Given the description of an element on the screen output the (x, y) to click on. 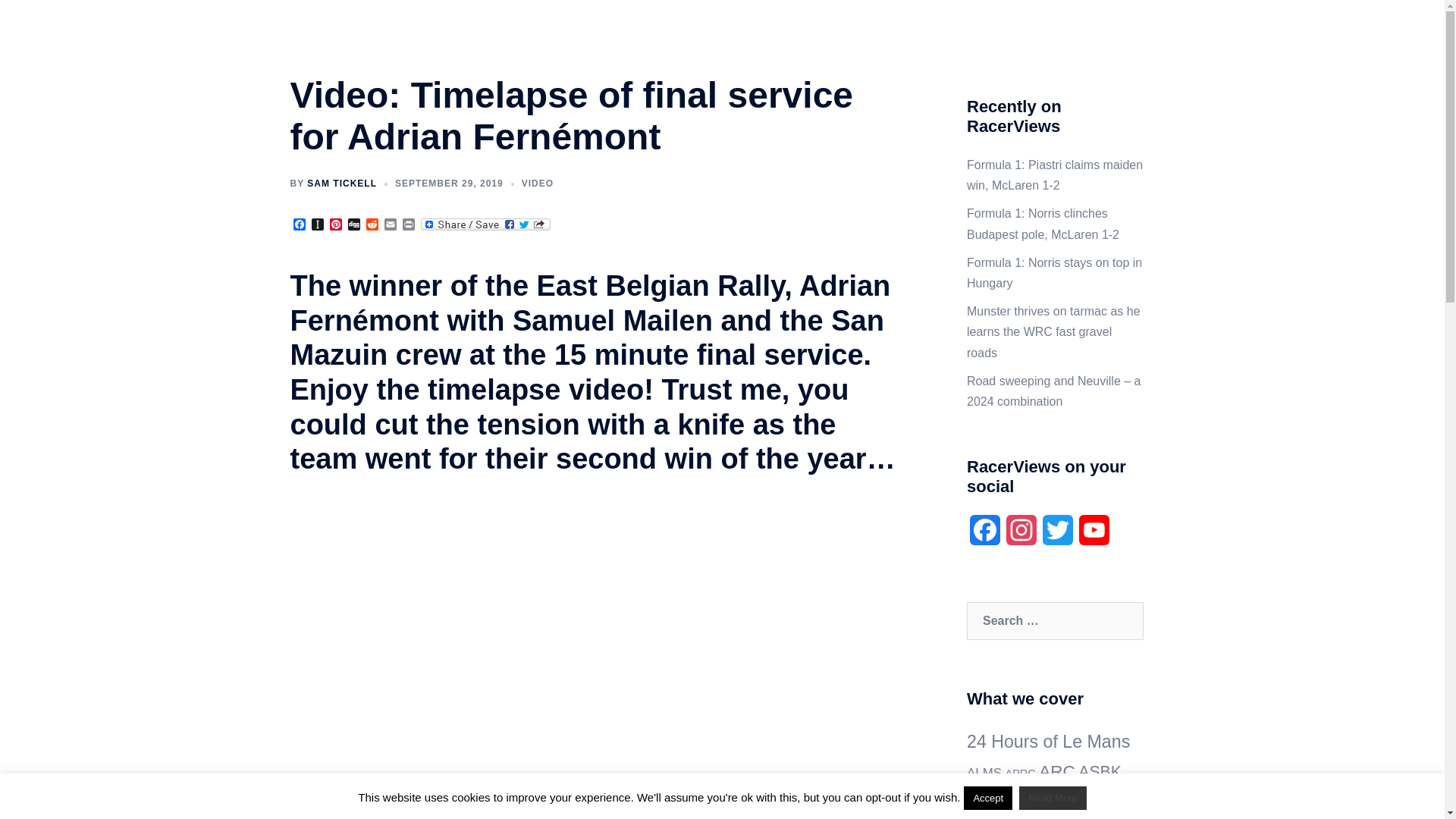
RacerViews (357, 29)
Print (407, 225)
Pinterest (334, 225)
Facebook (298, 225)
Email (389, 225)
Digg (352, 225)
Media (836, 29)
Instapaper (316, 225)
Interviews (778, 29)
Reddit (371, 225)
